Given the description of an element on the screen output the (x, y) to click on. 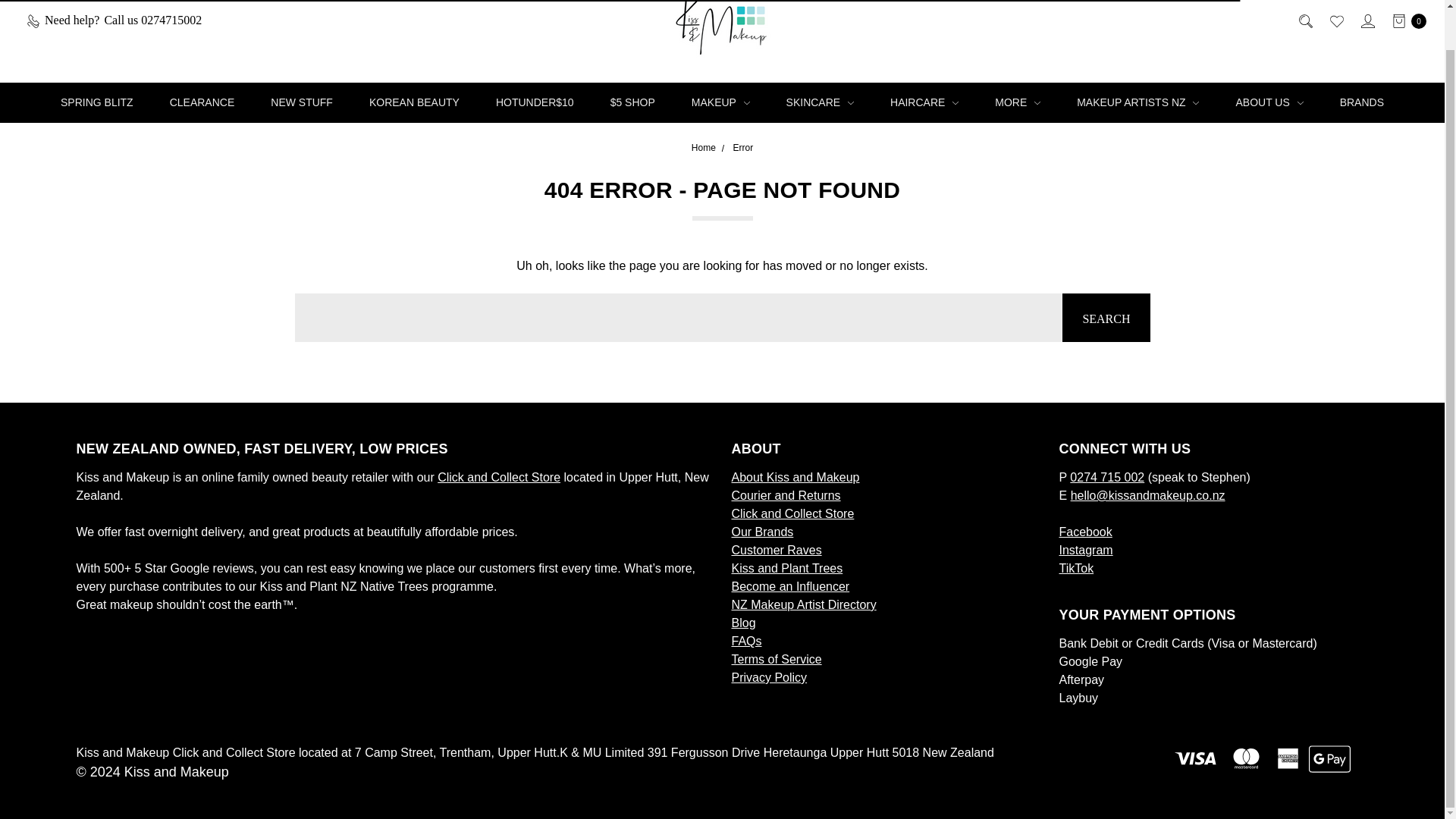
KOREAN BEAUTY (413, 102)
MAKEUP (720, 102)
SPRING BLITZ (96, 102)
0 (1405, 20)
CLEARANCE (202, 102)
Need help?Call us 0274715002 (112, 20)
Kiss and Makeup (722, 29)
NEW STUFF (300, 102)
Search (1106, 317)
